Given the description of an element on the screen output the (x, y) to click on. 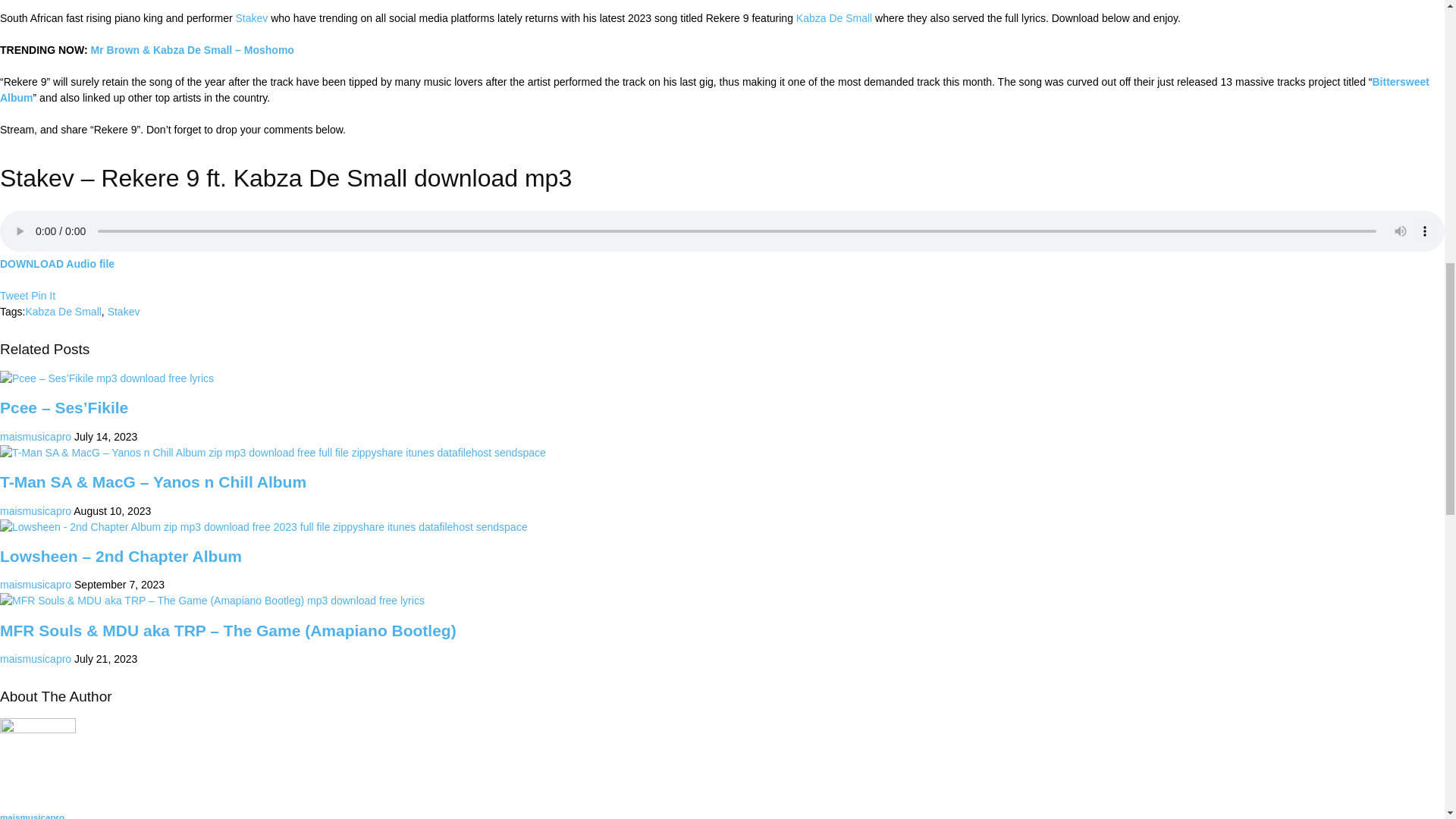
Posts by maismusicapro (35, 436)
Kabza De Small (834, 18)
Lowsheen - 2nd Chapter Album mp3 download (263, 527)
Tweet (13, 295)
Bittersweet Album (714, 90)
Stakev (251, 18)
Posts by maismusicapro (35, 510)
maismusicapro (35, 436)
maismusicapro (35, 510)
DOWNLOAD Audio file (57, 263)
Pin It (42, 295)
Kabza De Small (62, 311)
Stakev (123, 311)
maismusicapro (35, 658)
maismusicapro (35, 584)
